Given the description of an element on the screen output the (x, y) to click on. 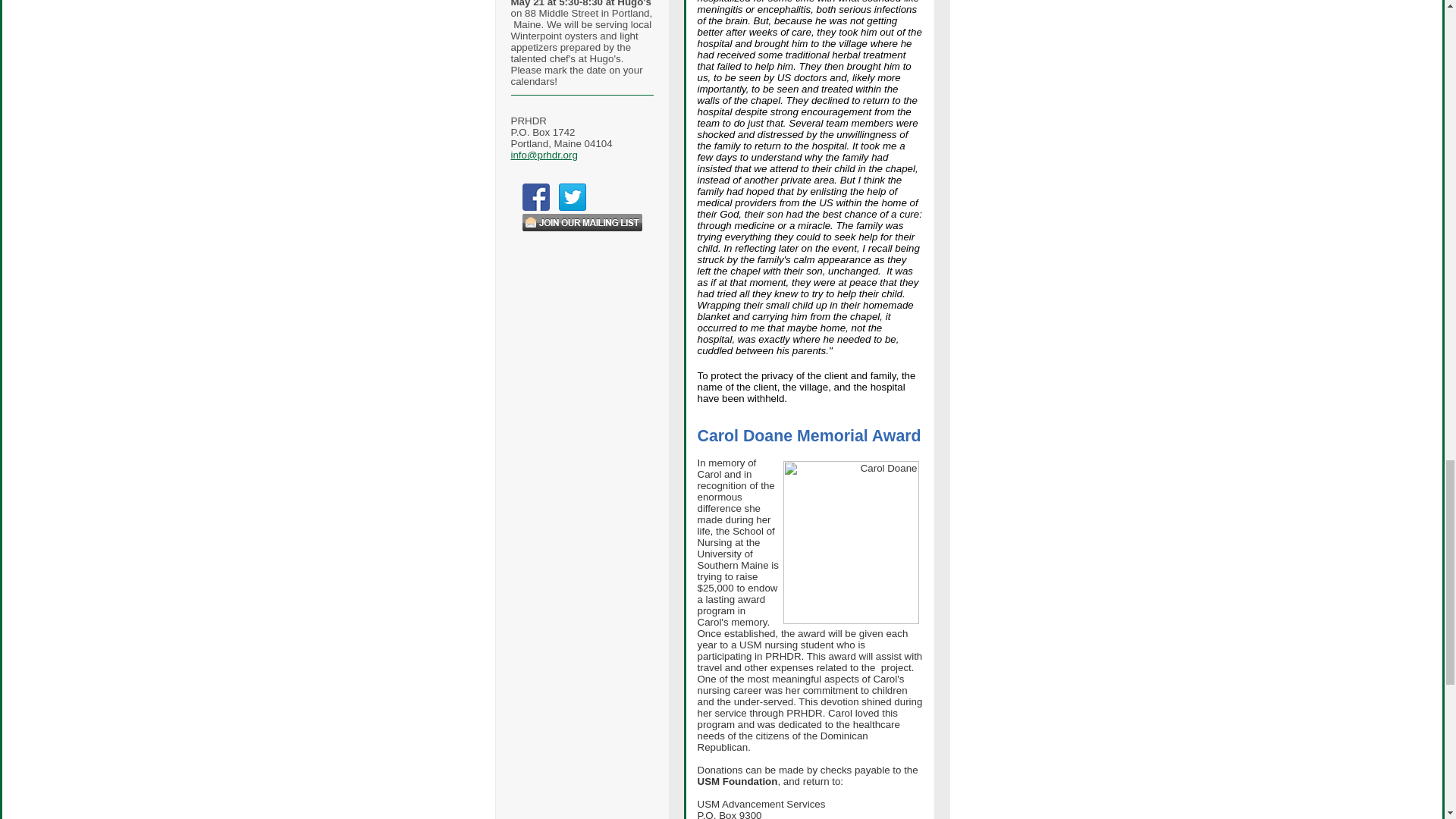
Follow us on Twitter (571, 196)
Like us on Facebook (534, 196)
